Given the description of an element on the screen output the (x, y) to click on. 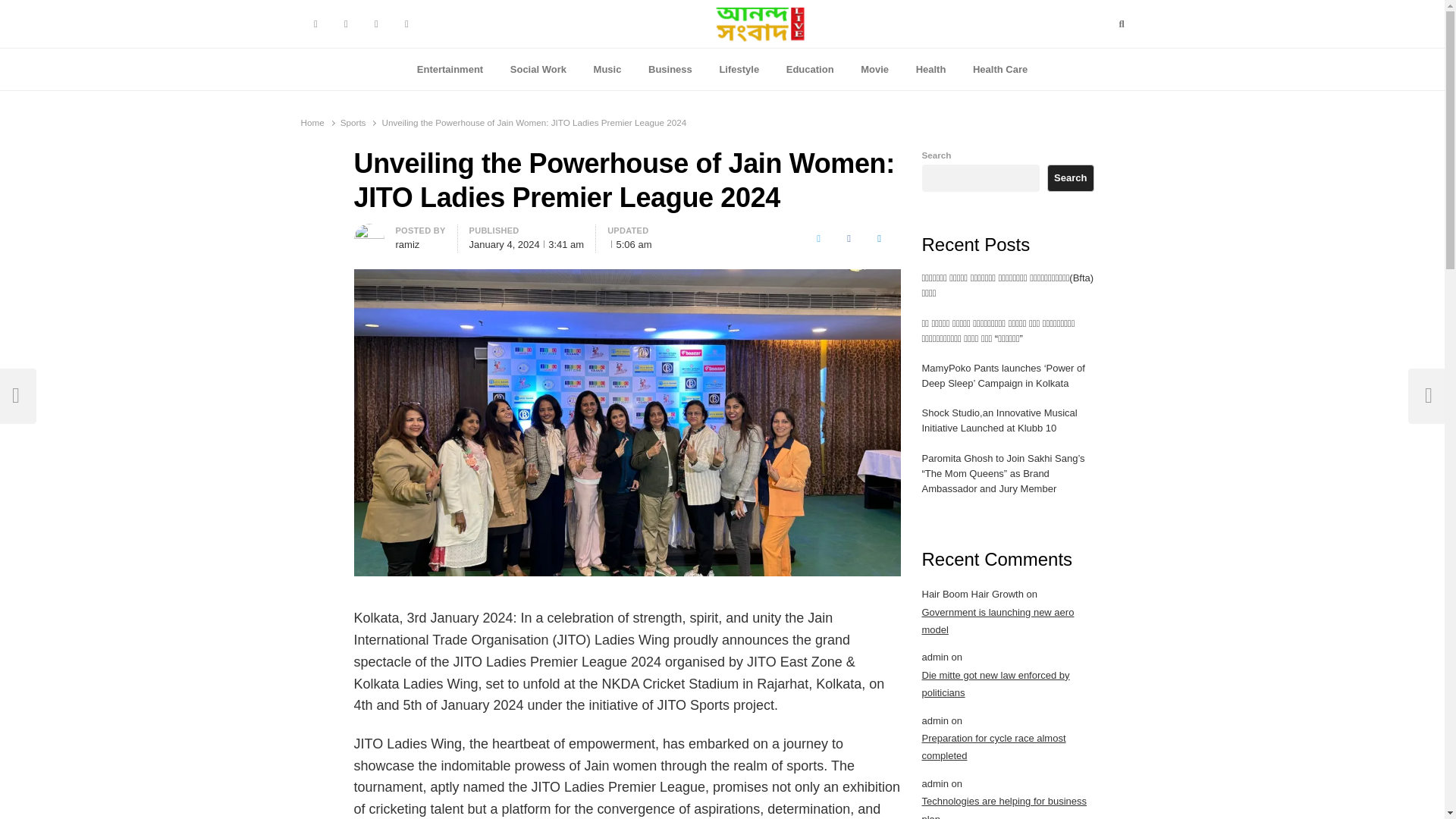
Music (606, 69)
Twitter (818, 238)
ramiz (408, 244)
Sports (353, 122)
LinkedIn (879, 238)
More posts by ramiz (368, 232)
Social Work (537, 69)
Education (809, 69)
Health Care (999, 69)
Home (311, 122)
